Given the description of an element on the screen output the (x, y) to click on. 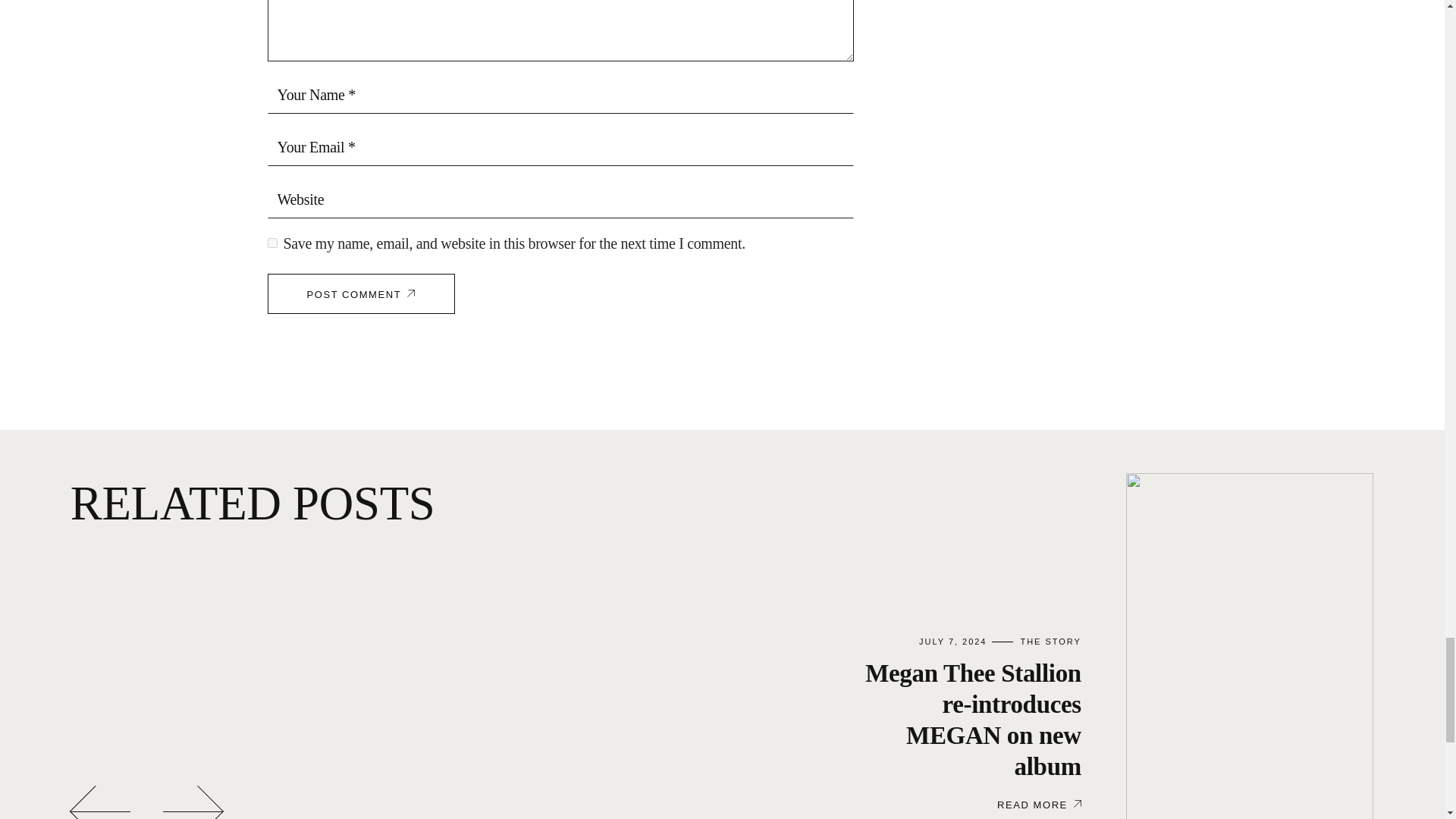
JULY 7, 2024 (952, 642)
THE STORY (1050, 642)
POST COMMENT (360, 293)
yes (271, 243)
